Given the description of an element on the screen output the (x, y) to click on. 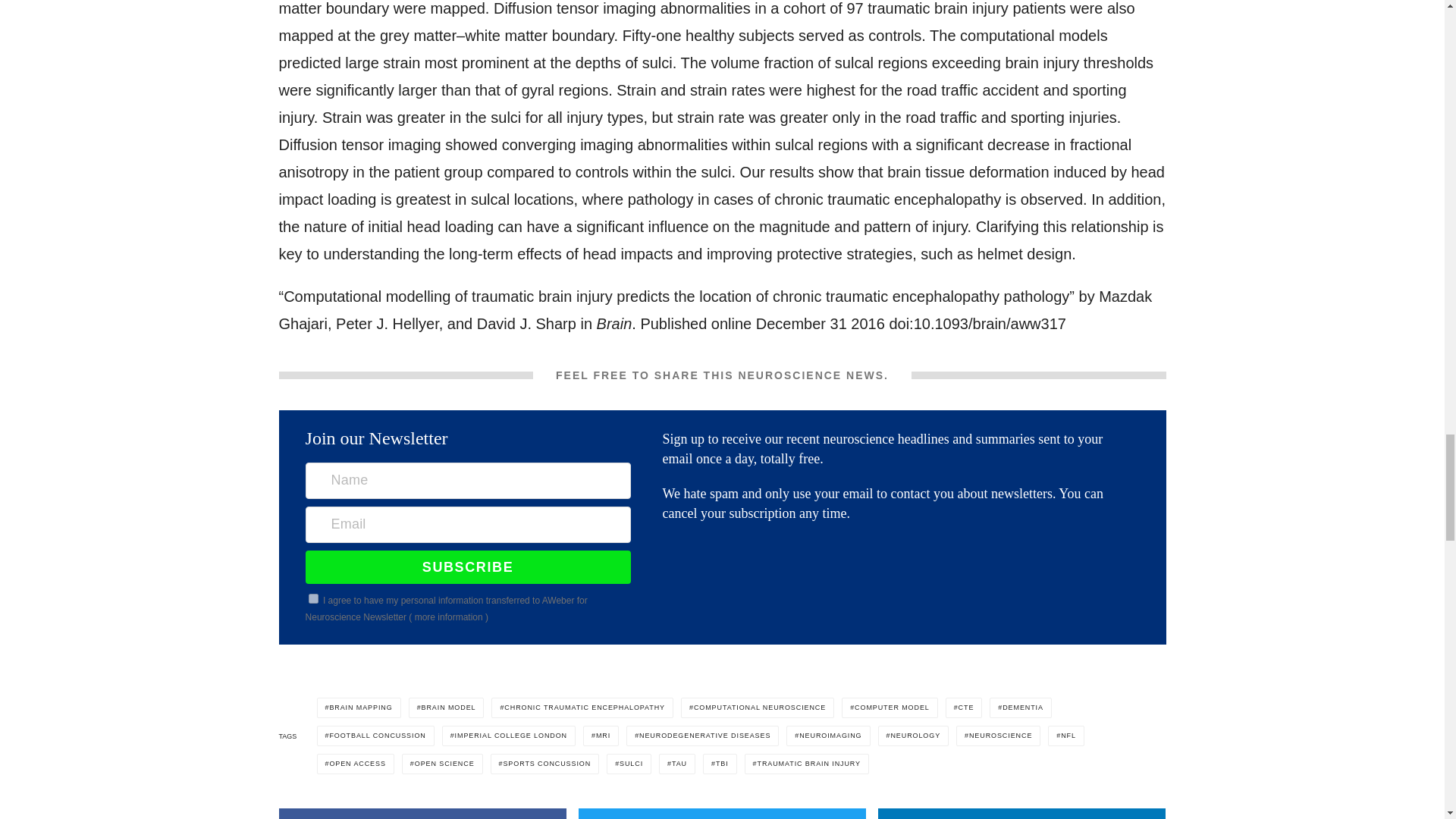
NEUROSCIENCE (998, 735)
COMPUTER MODEL (889, 707)
OPEN ACCESS (355, 763)
NEUROLOGY (913, 735)
SHARE (423, 813)
SPORTS CONCUSSION (544, 763)
TAU (677, 763)
on (313, 598)
MRI (600, 735)
more information (448, 616)
BRAIN MAPPING (359, 707)
SULCI (628, 763)
FOOTBALL CONCUSSION (375, 735)
TWEET (722, 813)
NEUROIMAGING (827, 735)
